Given the description of an element on the screen output the (x, y) to click on. 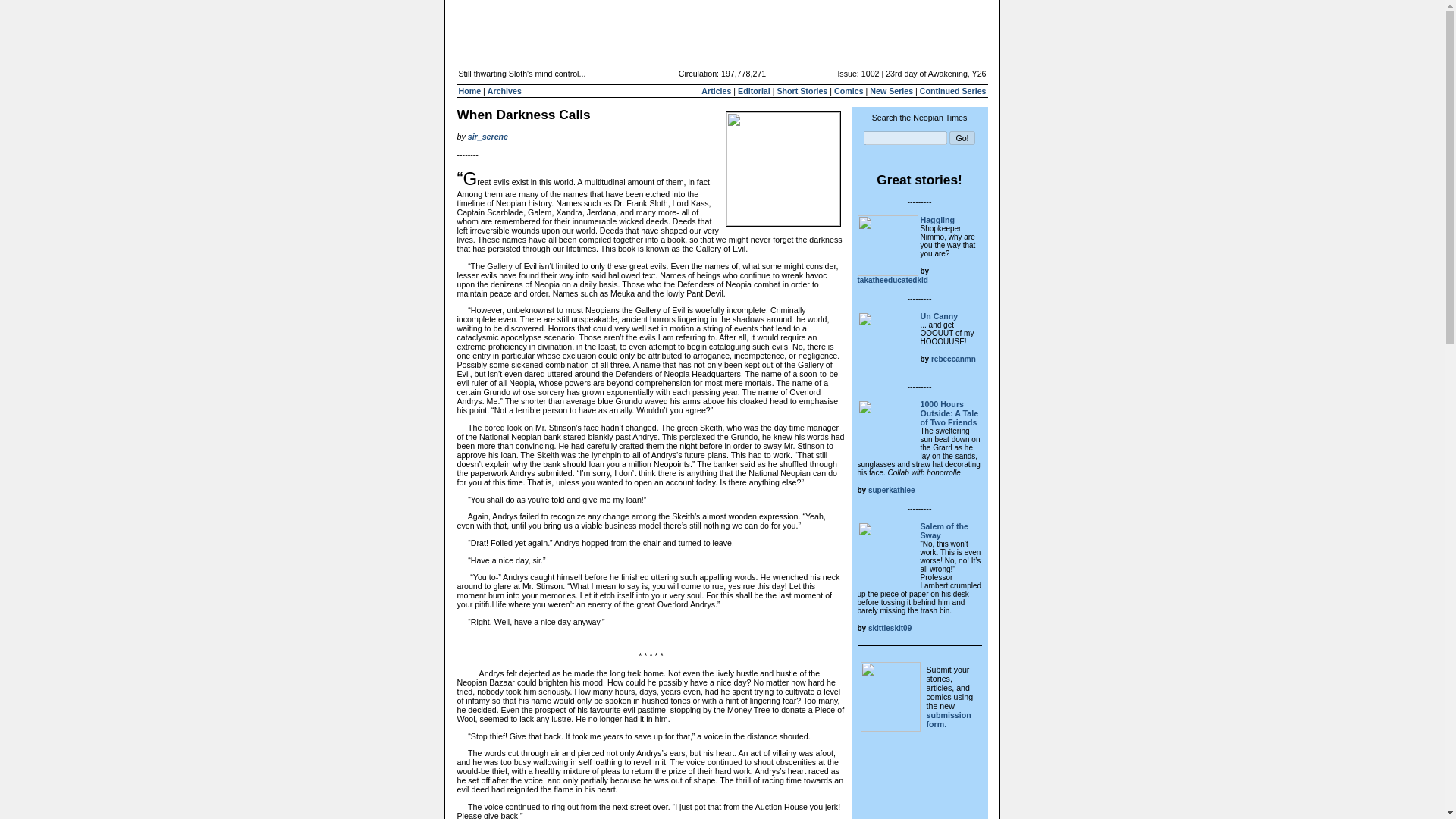
skittleskit09 (889, 627)
Home (469, 90)
New Series (890, 90)
Archives (504, 90)
Short Stories (801, 90)
Salem of the Sway (944, 530)
Un Canny (939, 316)
submission form. (948, 719)
superkathiee (891, 489)
Continued Series (953, 90)
1000 Hours Outside: A Tale of Two Friends (949, 412)
takatheeducatedkid (892, 279)
Editorial (754, 90)
Go! (961, 137)
Go! (961, 137)
